Given the description of an element on the screen output the (x, y) to click on. 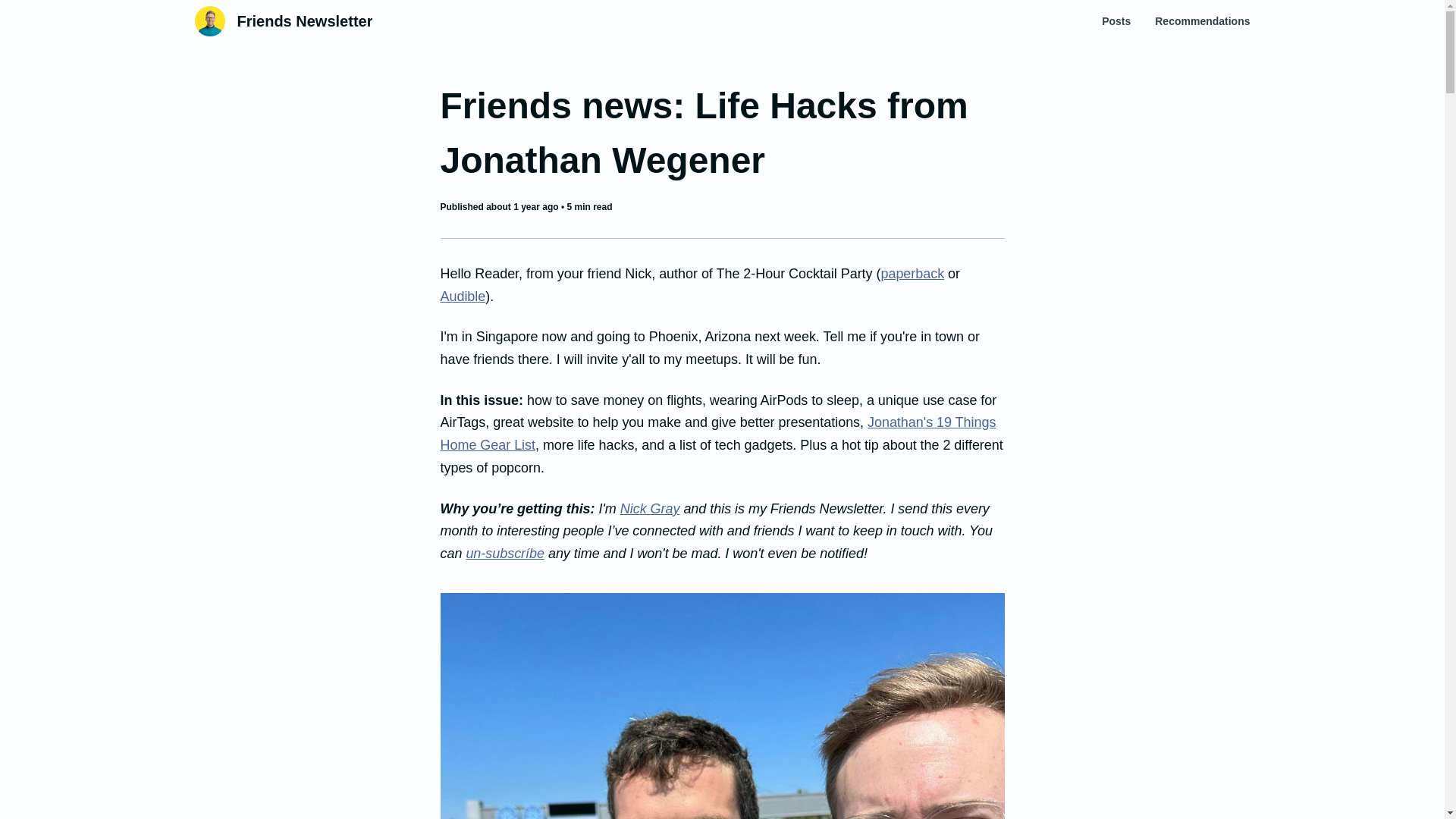
Jonathan's 19 Things Home Gear List (717, 433)
Nick Gray (649, 507)
Friends Newsletter (303, 21)
paperback (911, 273)
Posts (1116, 21)
Audible (461, 296)
Recommendations (1201, 21)
